Given the description of an element on the screen output the (x, y) to click on. 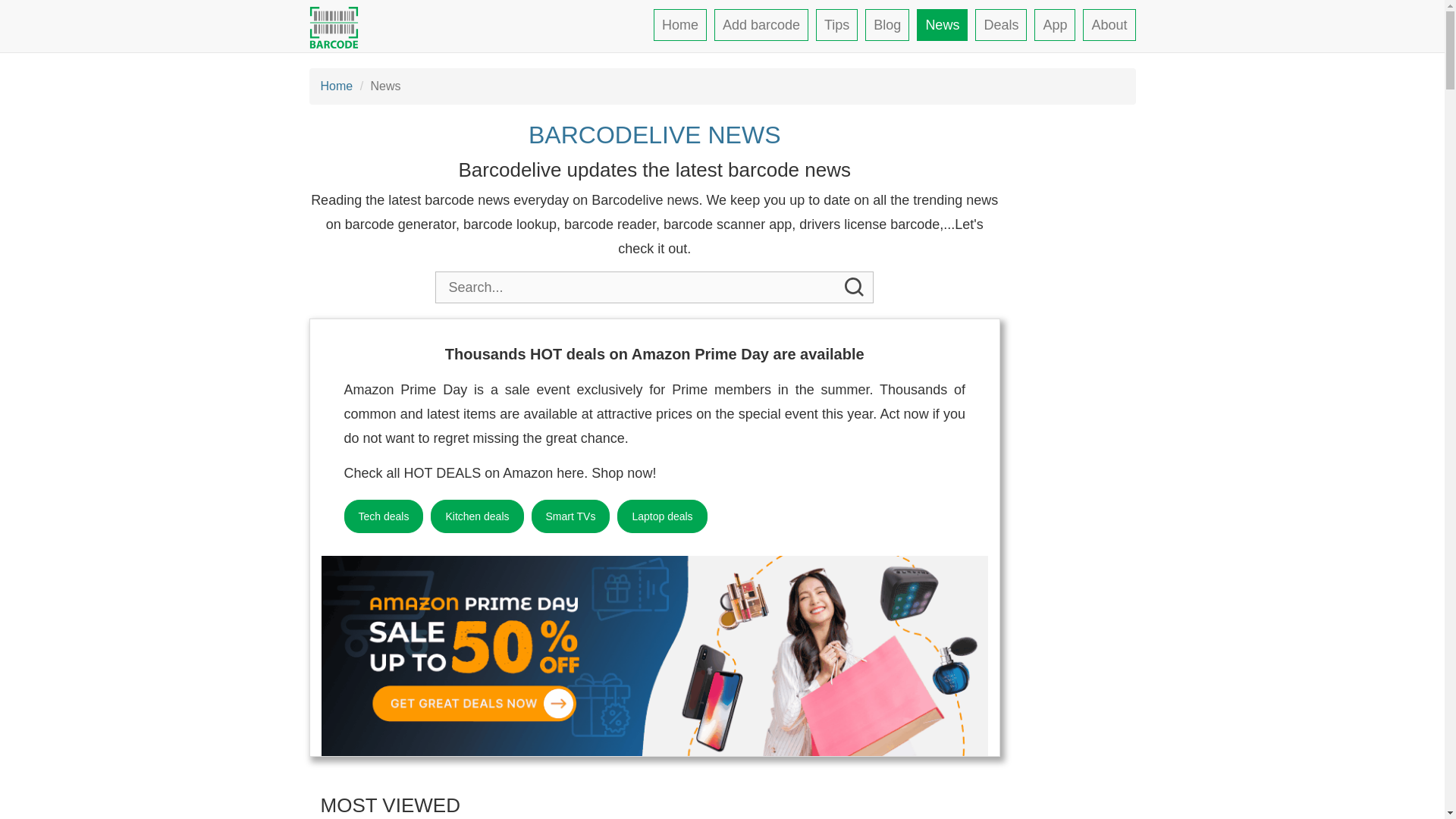
Laptop deals (661, 516)
News (942, 24)
Tips (836, 24)
Blog (886, 24)
Deals (1000, 24)
Home (679, 24)
Tech deals (383, 516)
App (1054, 24)
Smart TVs (570, 516)
Add barcode (761, 24)
Home (336, 85)
About (1109, 24)
Kitchen deals (476, 516)
